Given the description of an element on the screen output the (x, y) to click on. 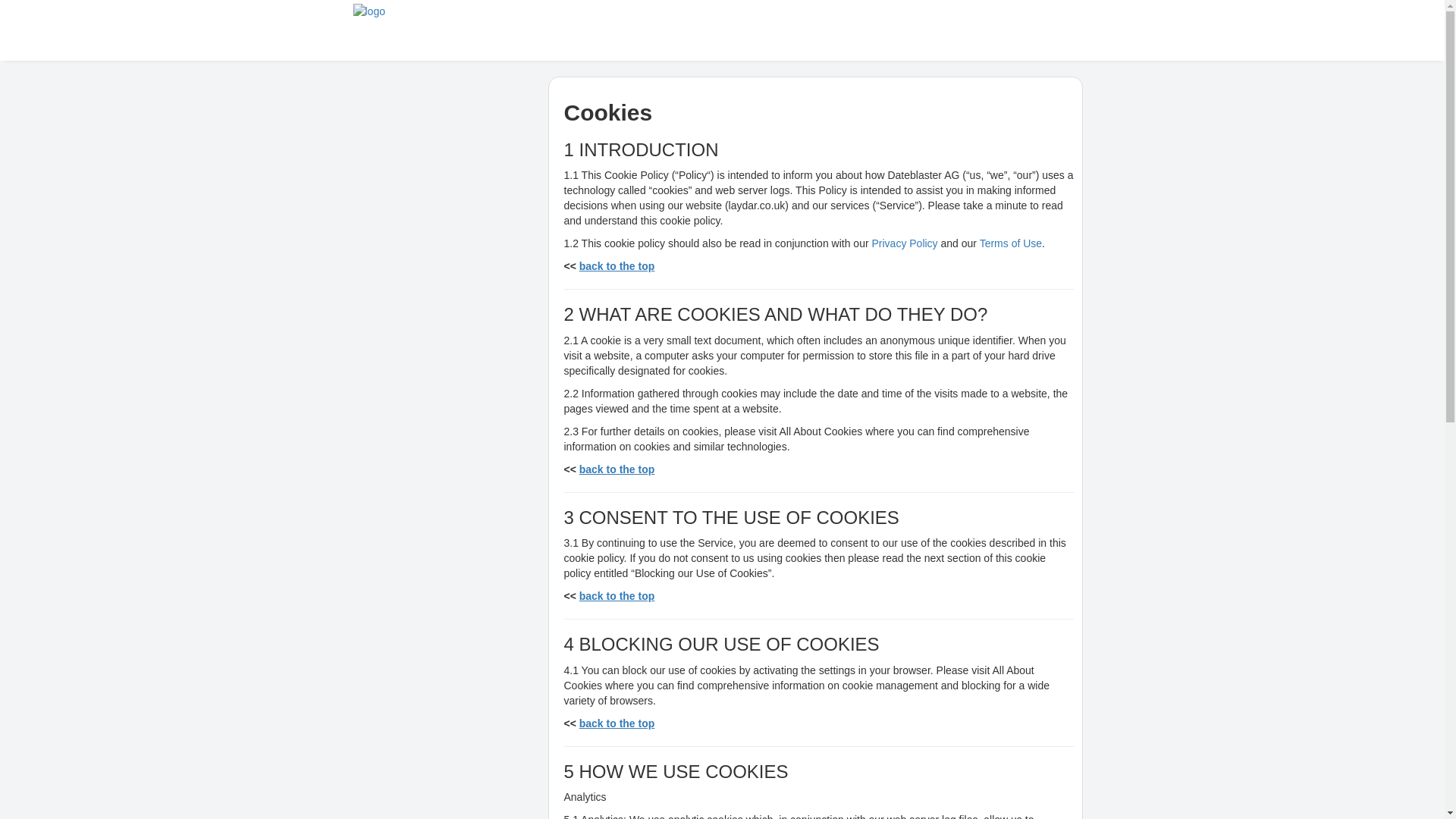
back to the top (617, 265)
back to the top (617, 723)
back to the top (617, 595)
back to the top (617, 469)
back to the top (617, 595)
back to the top (617, 723)
back to the top (617, 469)
Privacy Policy (903, 243)
back to the top (617, 265)
Terms of Use (1010, 243)
